Given the description of an element on the screen output the (x, y) to click on. 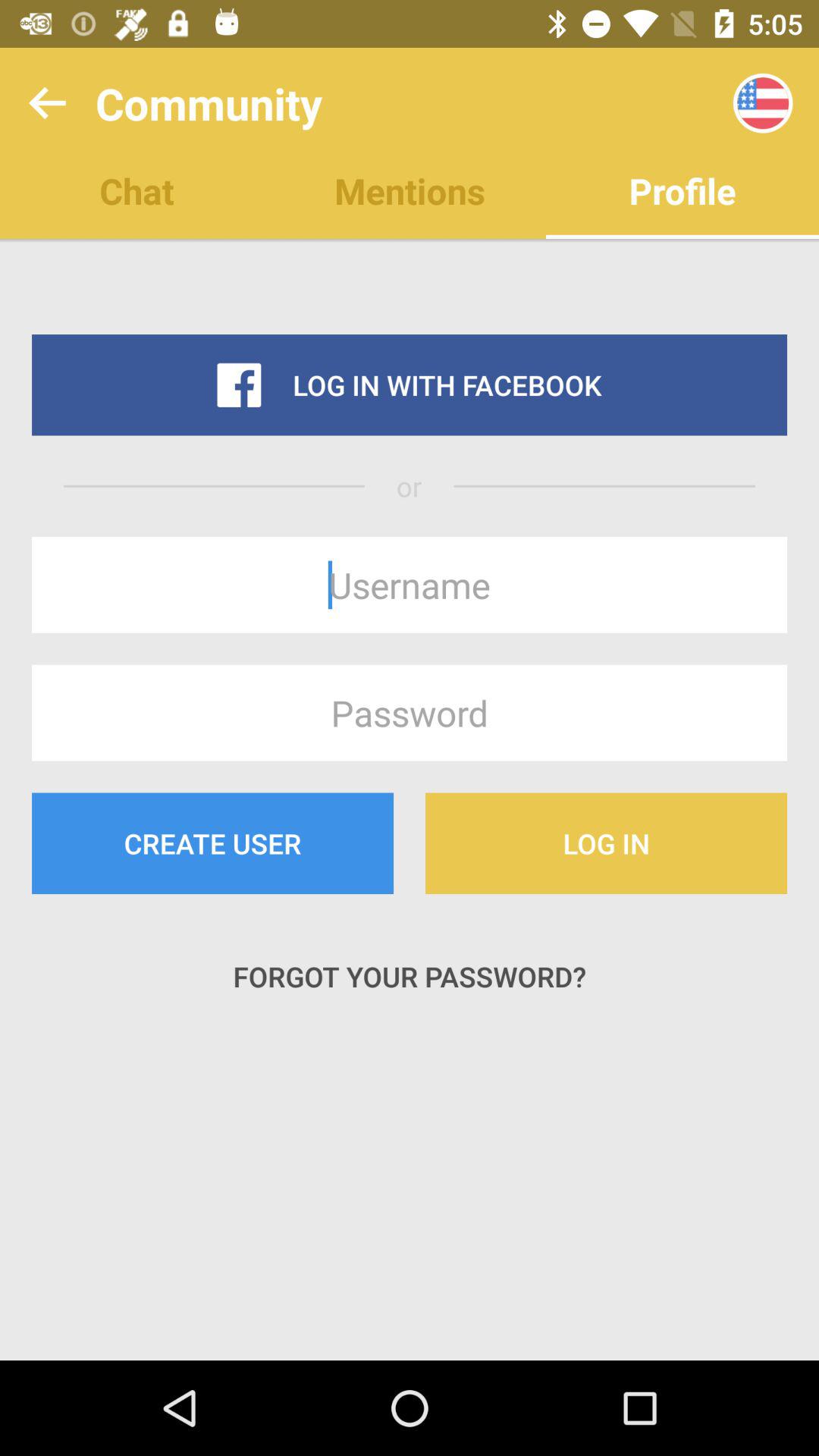
press item below create user (409, 976)
